Given the description of an element on the screen output the (x, y) to click on. 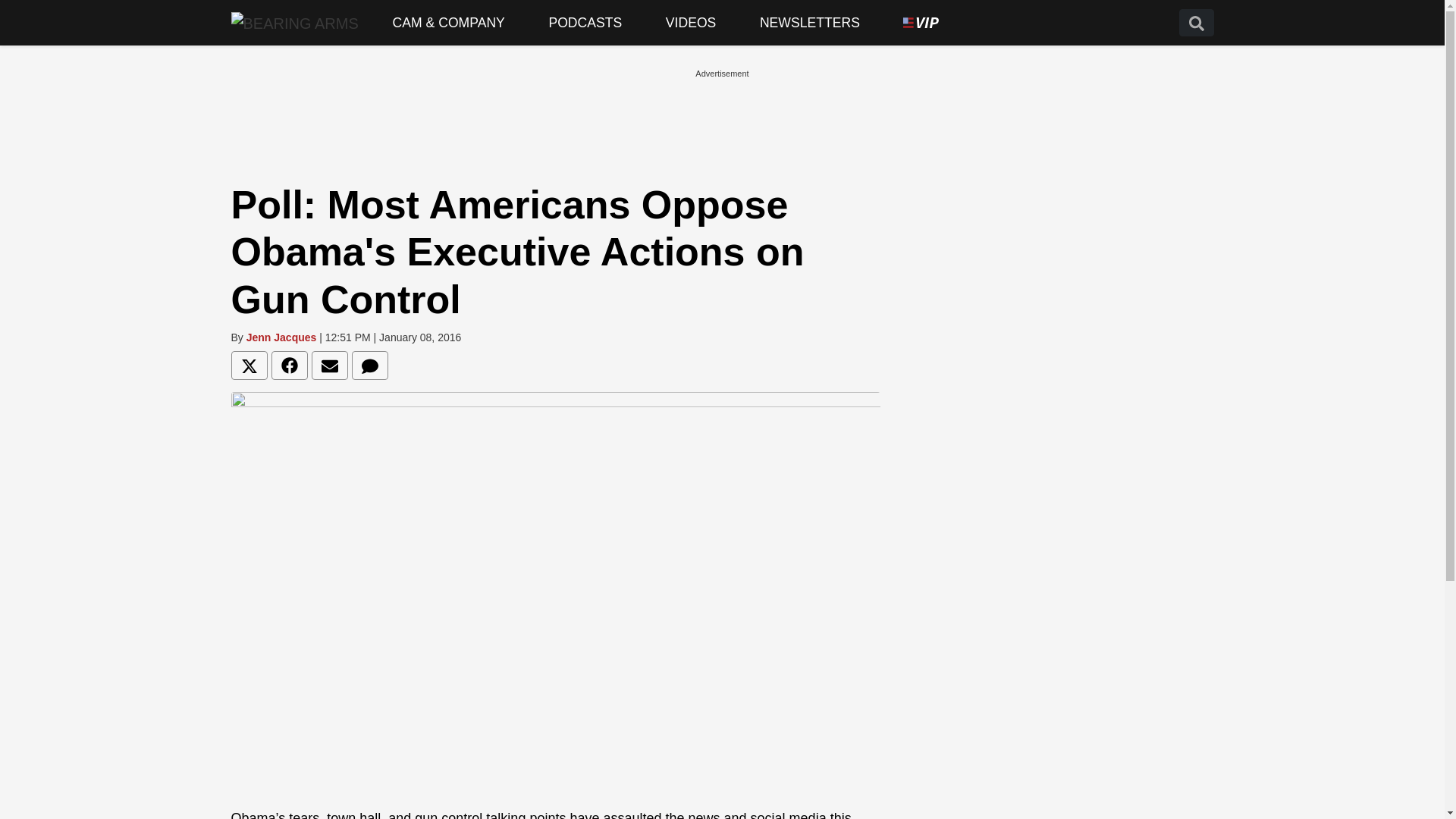
Videos (690, 22)
Newsletters (810, 22)
VIP (920, 22)
PODCASTS (585, 22)
Podcasts (585, 22)
VIDEOS (690, 22)
Site Search (1194, 22)
Bearing Arms (294, 22)
NEWSLETTERS (810, 22)
